Given the description of an element on the screen output the (x, y) to click on. 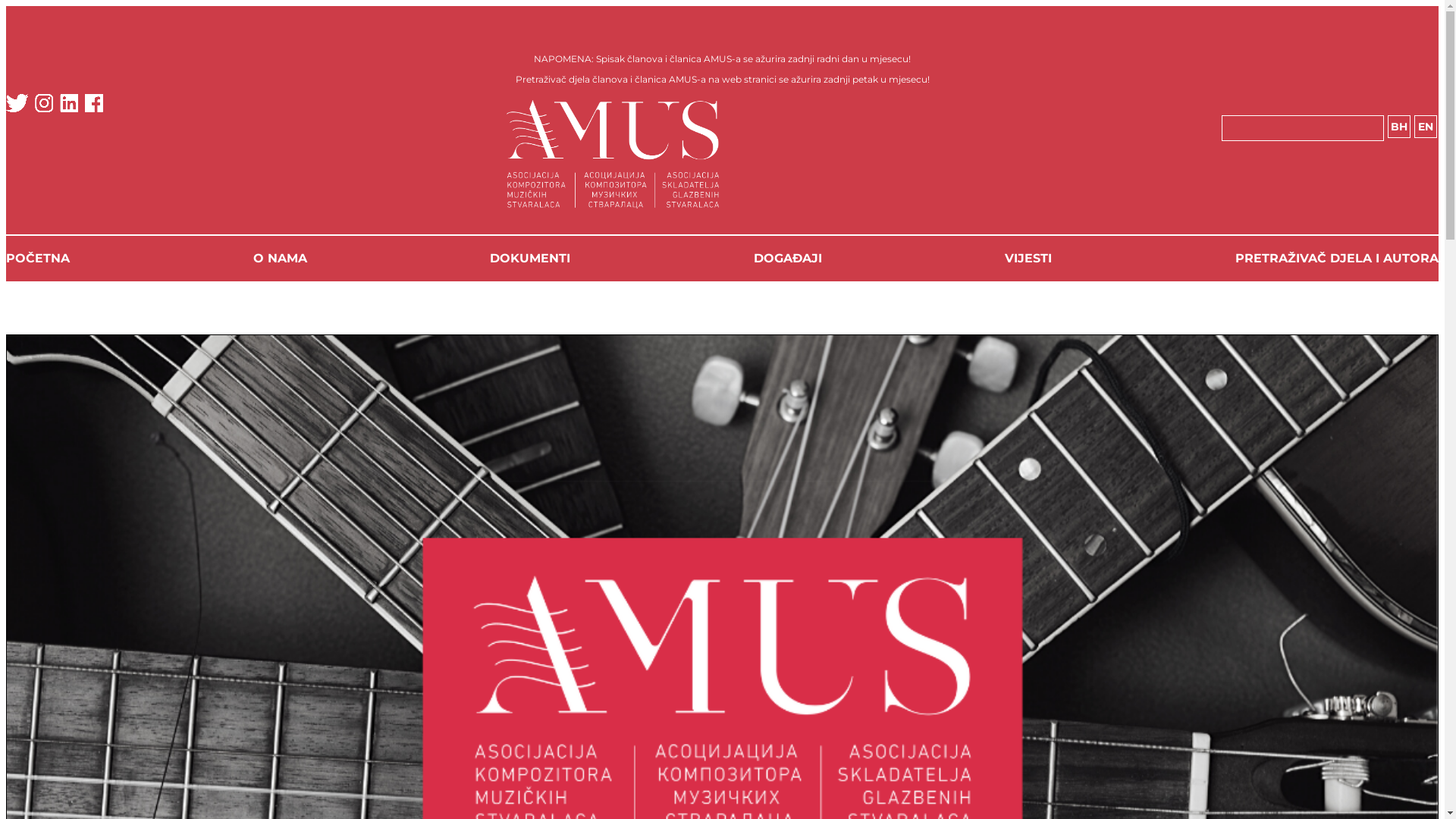
VIJESTI Element type: text (1027, 258)
O NAMA Element type: text (280, 258)
BH Element type: text (1398, 126)
EN Element type: text (1424, 126)
DOKUMENTI Element type: text (529, 258)
